Given the description of an element on the screen output the (x, y) to click on. 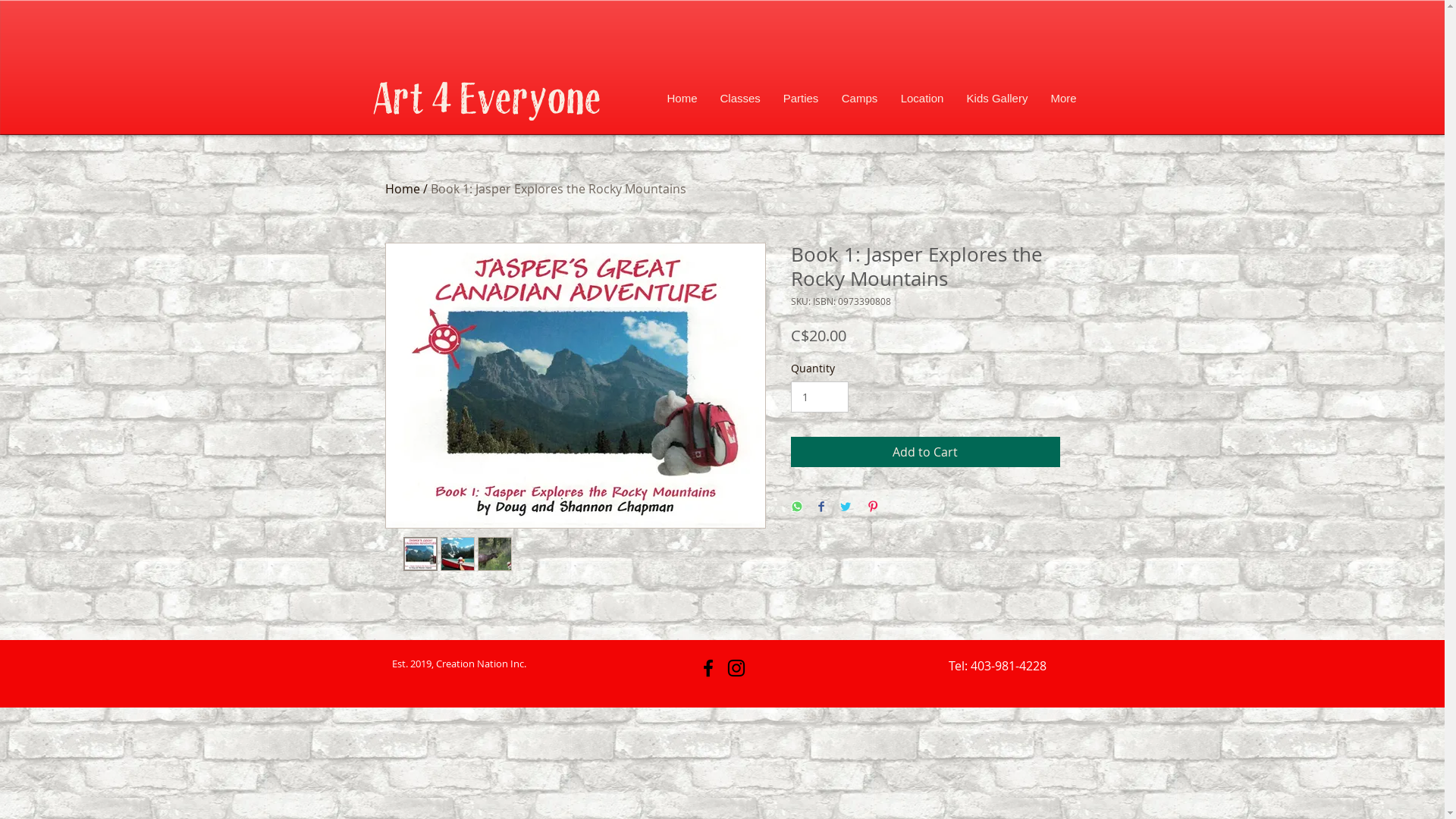
Camps Element type: text (858, 98)
Home Element type: text (402, 188)
Kids Gallery Element type: text (997, 98)
Parties Element type: text (800, 98)
Art 4 Everyone Element type: text (487, 102)
Home Element type: text (681, 98)
Add to Cart Element type: text (924, 451)
Location Element type: text (921, 98)
Classes Element type: text (739, 98)
